Given the description of an element on the screen output the (x, y) to click on. 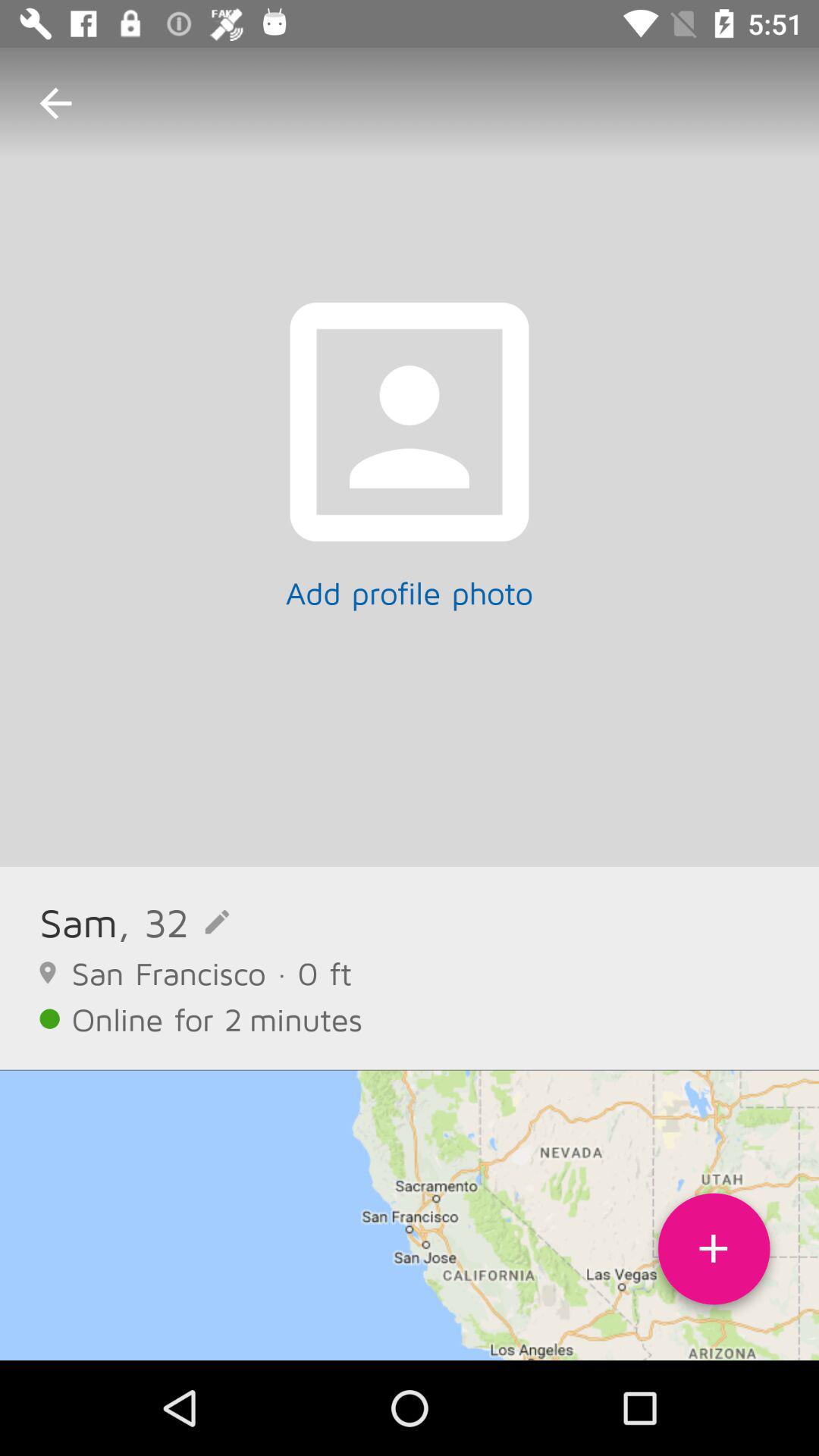
tap icon above san francisco 0 icon (173, 921)
